Given the description of an element on the screen output the (x, y) to click on. 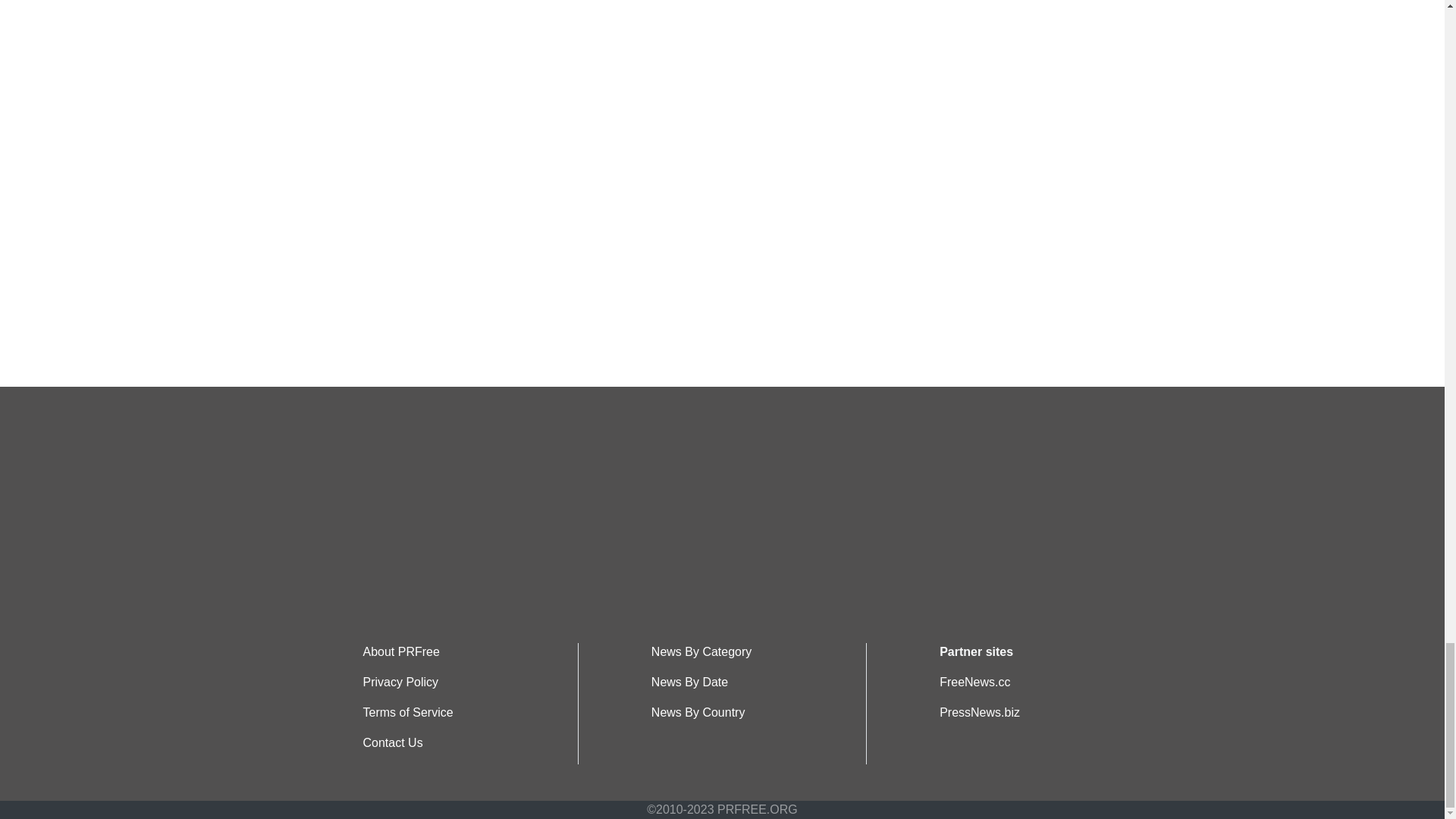
Privacy Policy (400, 681)
About PRFree (400, 651)
Contact Us (392, 742)
Terms of Service (407, 712)
